Given the description of an element on the screen output the (x, y) to click on. 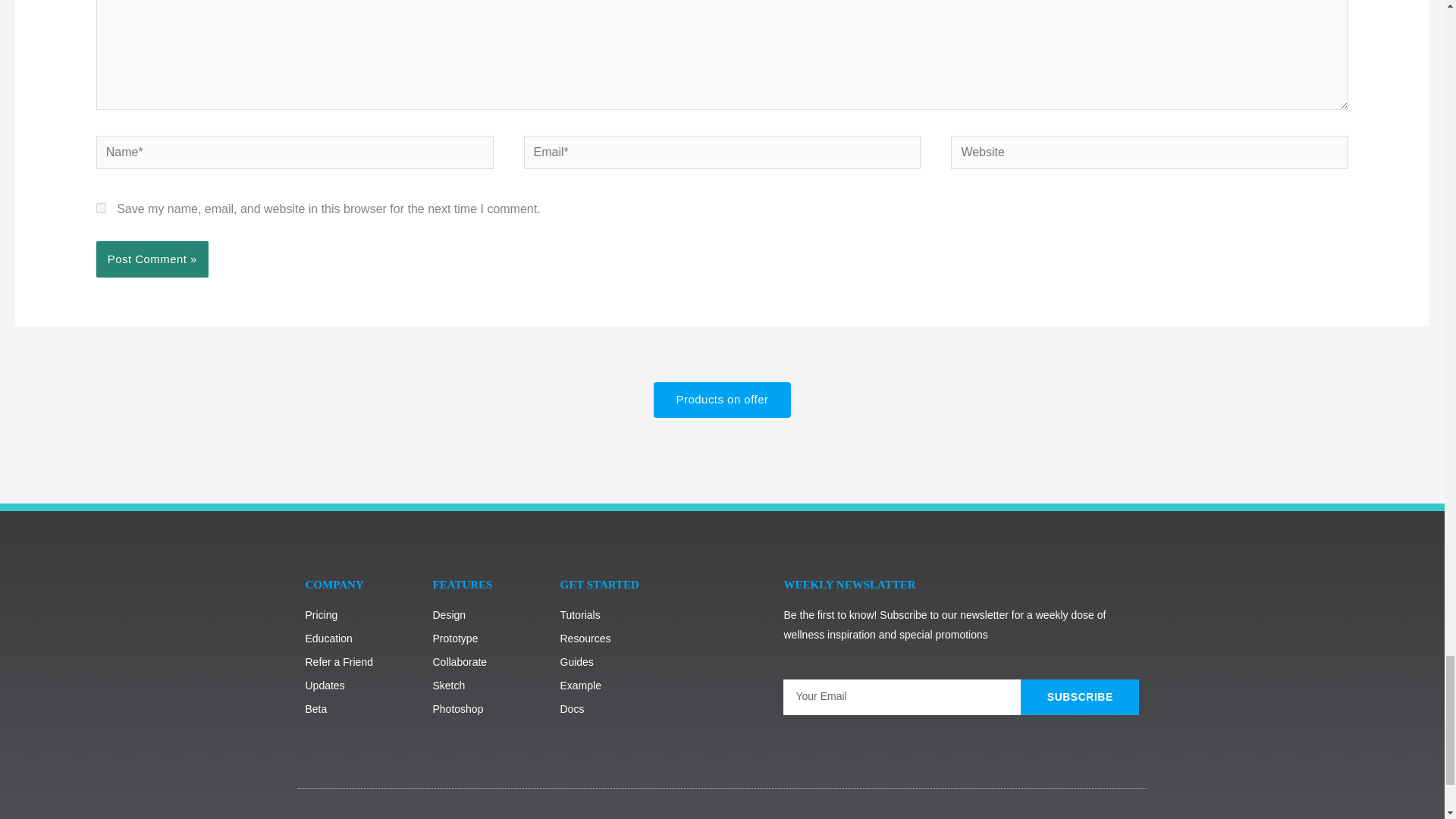
yes (101, 207)
